Given the description of an element on the screen output the (x, y) to click on. 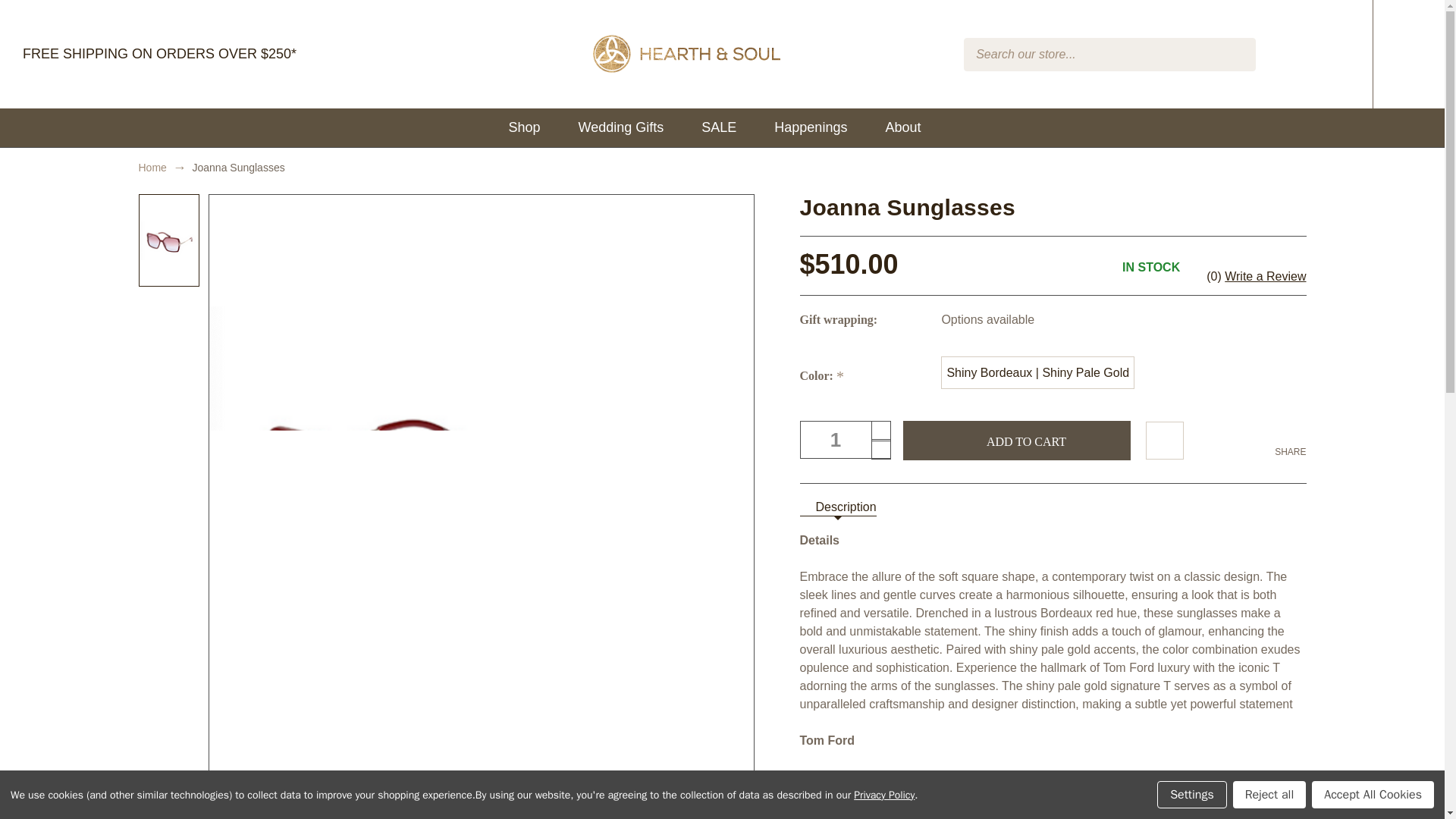
COMPARE (1286, 54)
USER (1332, 54)
SEARCH (1234, 54)
1 (844, 439)
Compare (1286, 54)
Shop (532, 127)
